Given the description of an element on the screen output the (x, y) to click on. 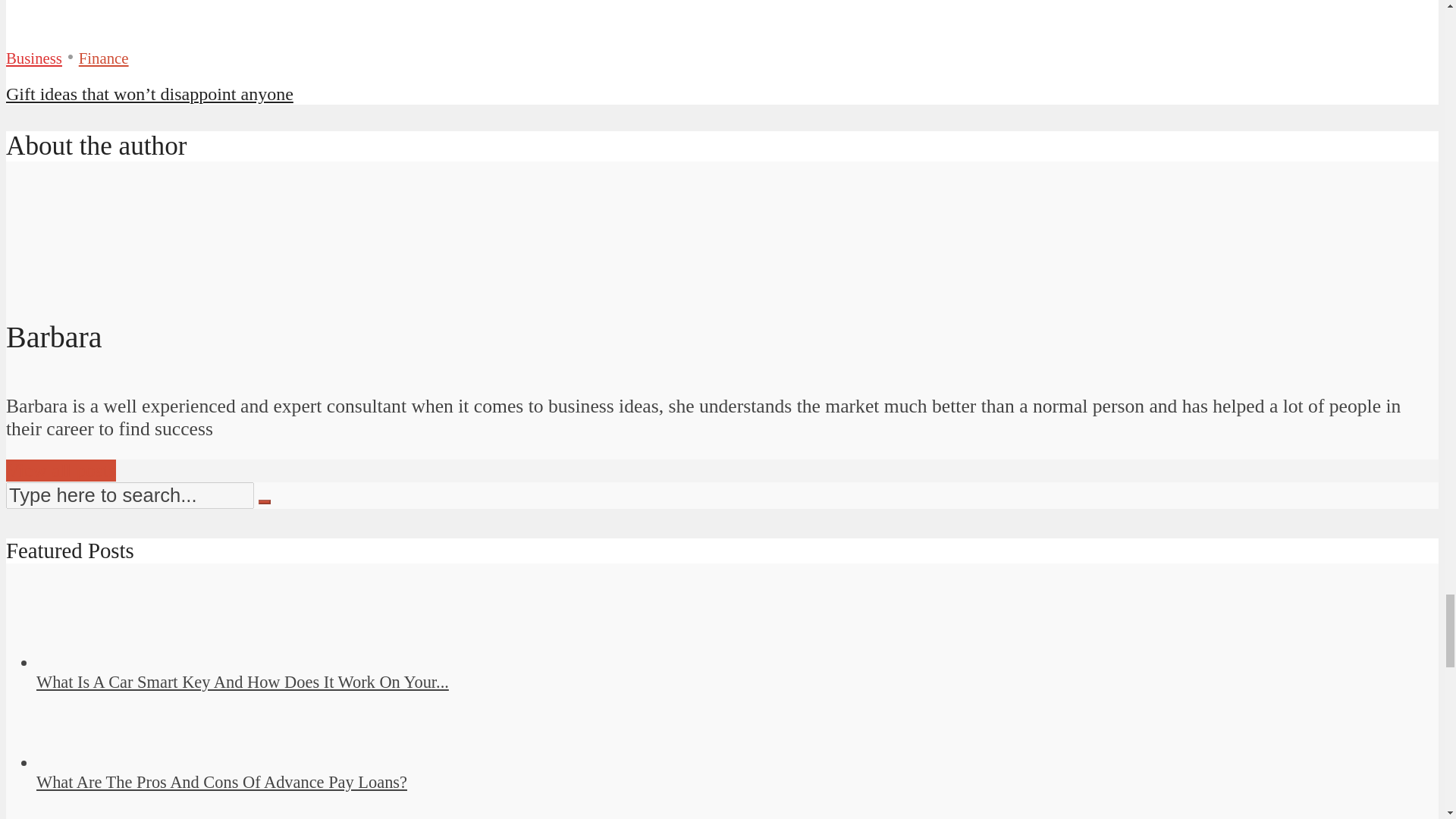
What Are The Pros And Cons Of Advance Pay Loans? (91, 762)
Type here to search... (129, 495)
What Are The Pros And Cons Of Advance Pay Loans? (221, 782)
Type here to search... (129, 495)
What Is A Car Smart Key And How Does It Work On Your Car? (91, 661)
What Is A Car Smart Key And How Does It Work On Your Car? (242, 681)
